Given the description of an element on the screen output the (x, y) to click on. 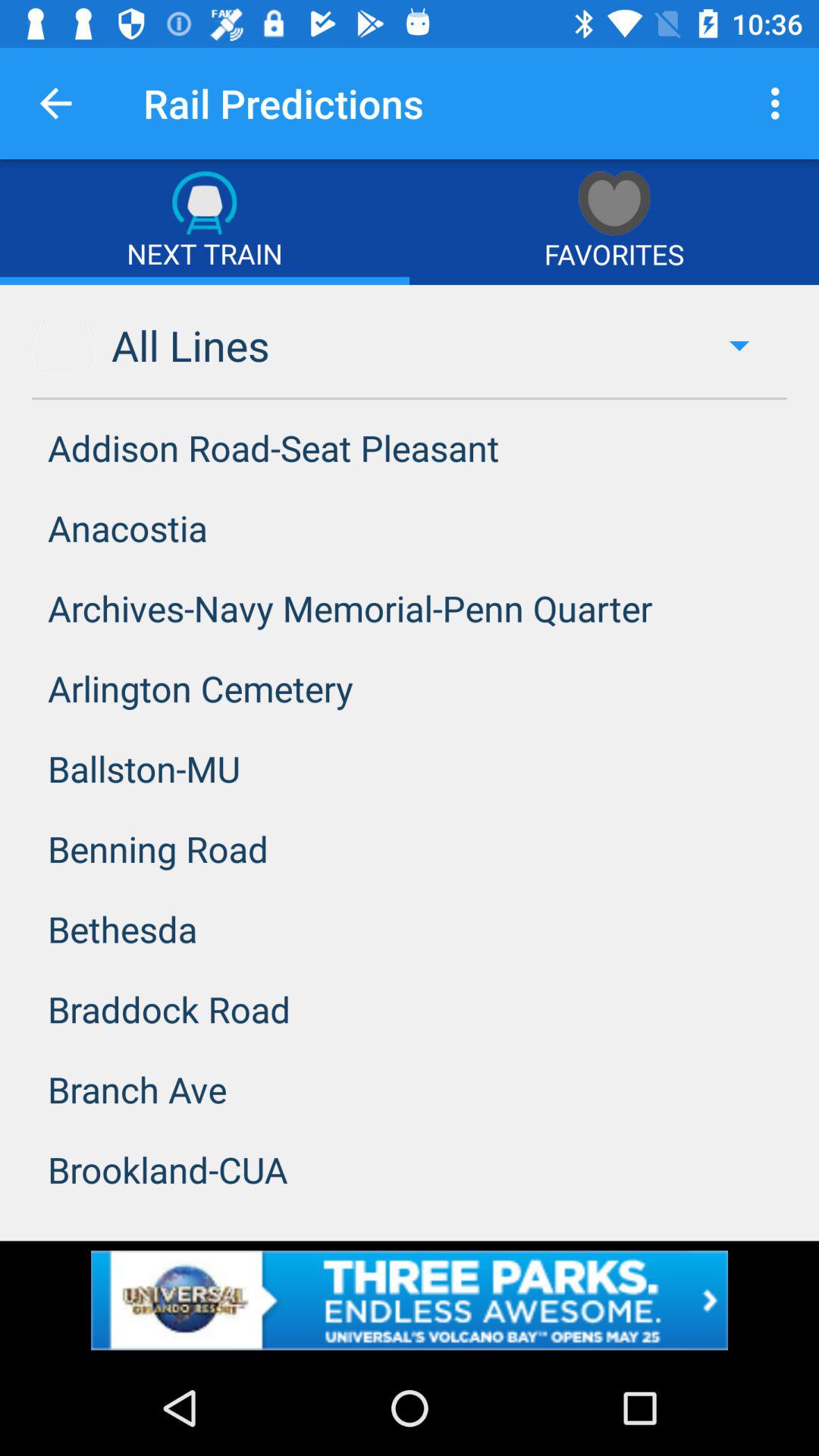
click on archivesnavy memorialpenn quarter (409, 607)
click on anacostia below addison roadseat pleasant (409, 527)
goto braddock road (409, 1009)
click on favorites (614, 221)
click on the more options icon (779, 103)
select the text which is below the ballstonmu (409, 848)
